Given the description of an element on the screen output the (x, y) to click on. 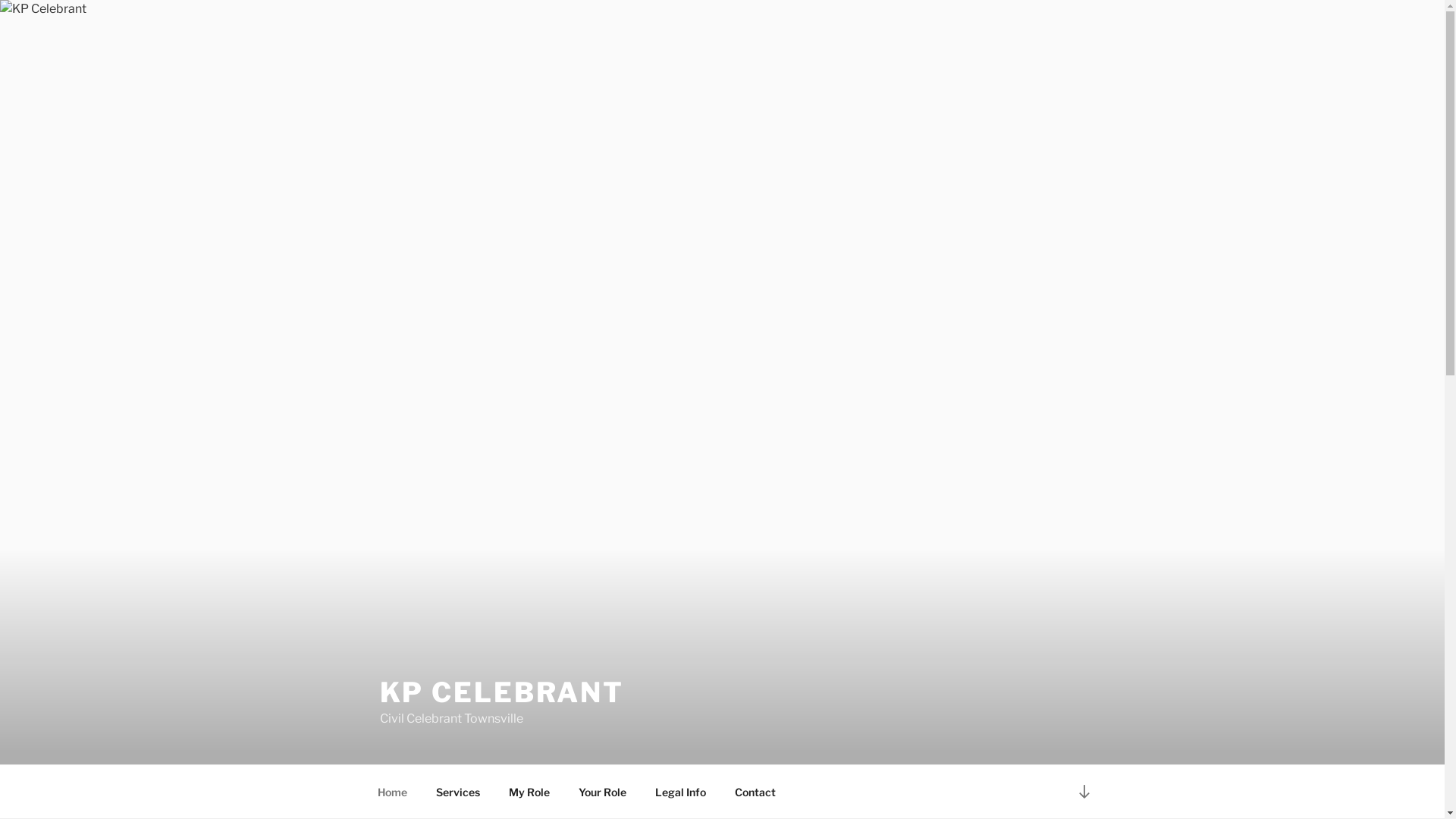
Scroll down to content Element type: text (1083, 790)
KP CELEBRANT Element type: text (501, 692)
Contact Element type: text (755, 791)
My Role Element type: text (529, 791)
Legal Info Element type: text (679, 791)
Your Role Element type: text (602, 791)
Home Element type: text (392, 791)
Services Element type: text (458, 791)
